Given the description of an element on the screen output the (x, y) to click on. 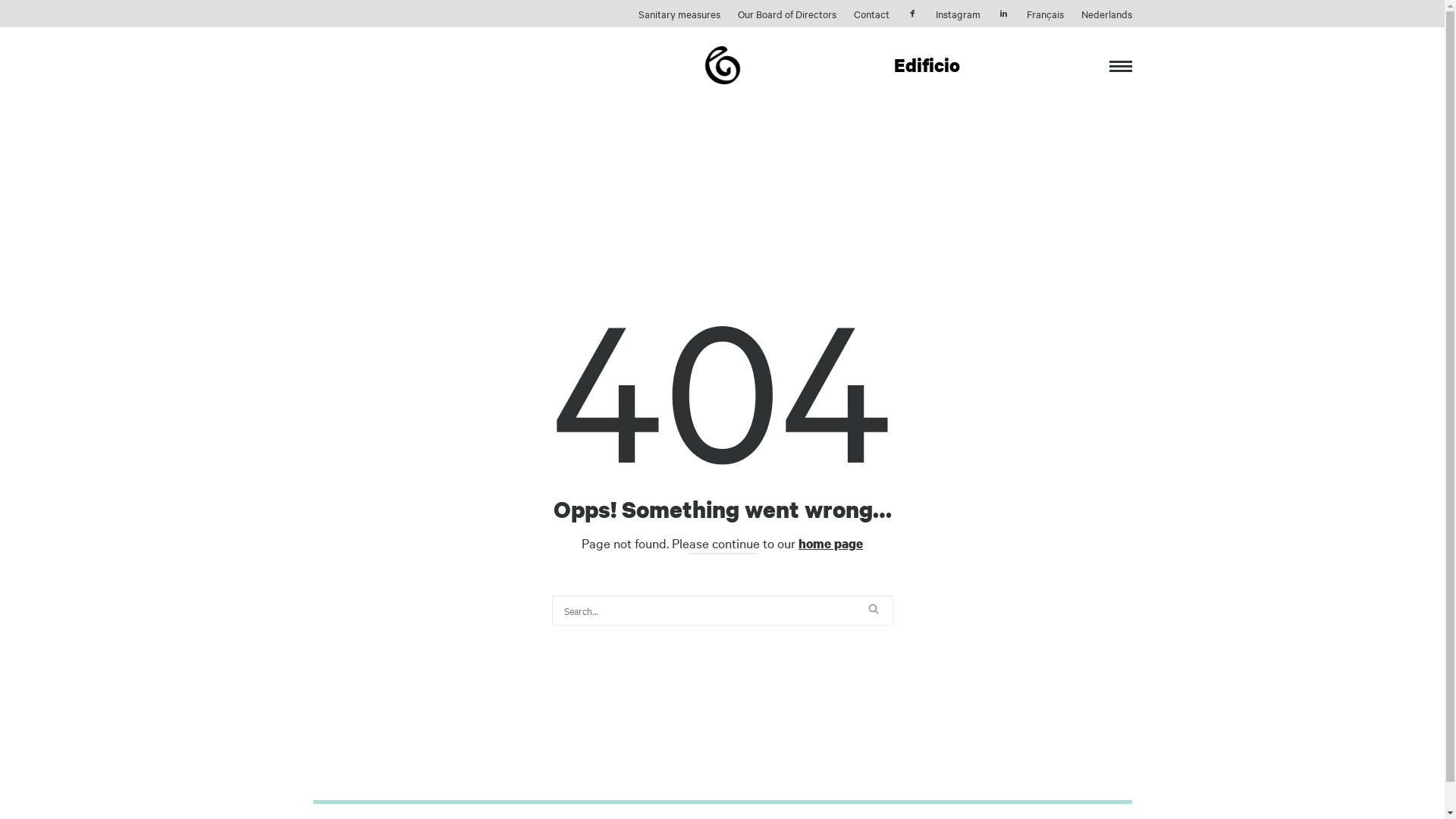
home page Element type: text (830, 543)
Instagram Element type: text (957, 13)
Search for: Element type: hover (722, 610)
Nederlands Element type: text (1106, 13)
Our Board of Directors Element type: text (786, 13)
Sanitary measures Element type: text (679, 13)
Contact Element type: text (871, 13)
